Given the description of an element on the screen output the (x, y) to click on. 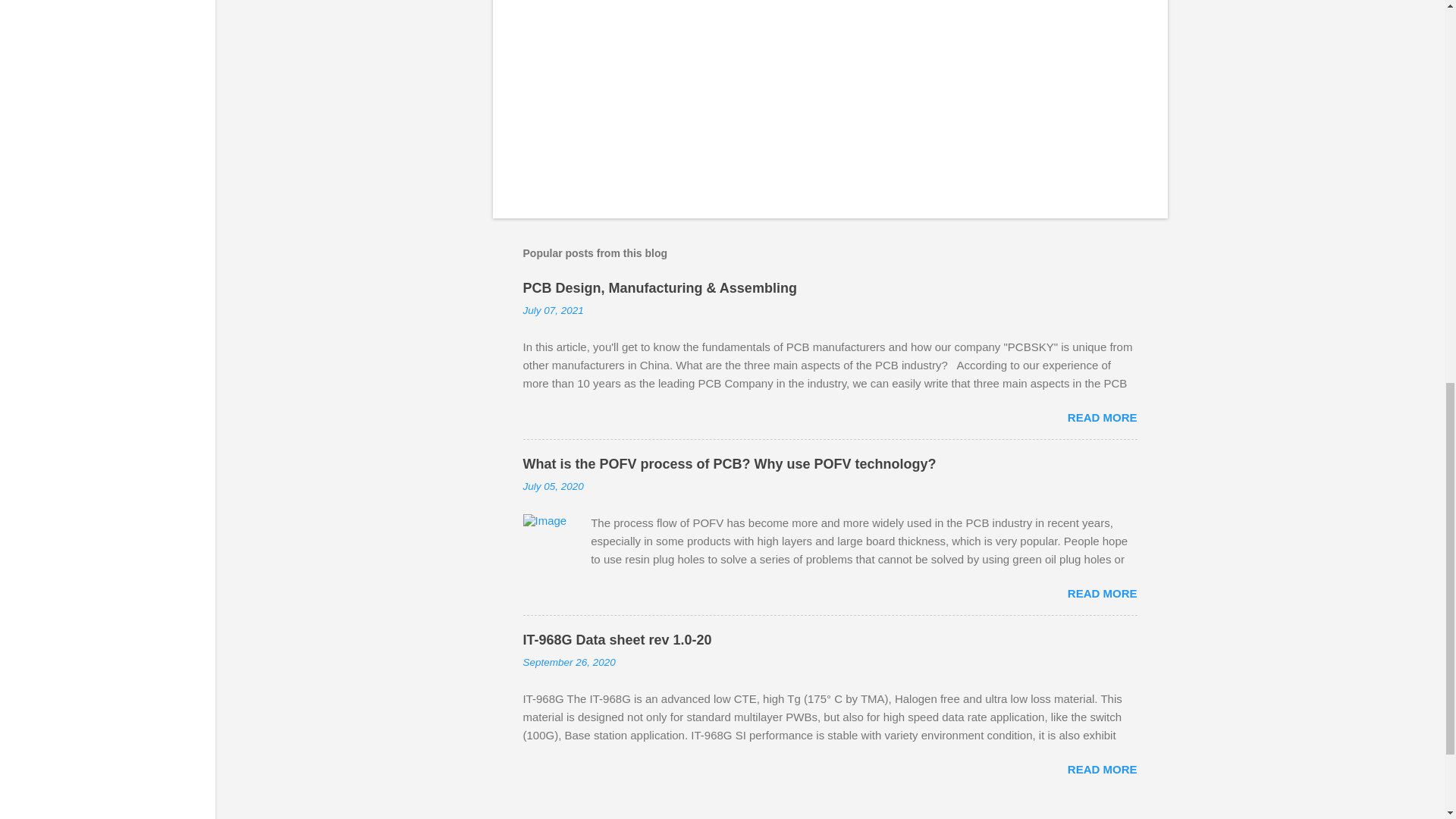
READ MORE (1102, 593)
September 26, 2020 (568, 662)
What is the POFV process of PCB? Why use POFV technology? (729, 463)
July 05, 2020 (552, 486)
permanent link (552, 310)
READ MORE (1102, 768)
READ MORE (1102, 417)
IT-968G Data sheet rev 1.0-20 (616, 639)
July 07, 2021 (552, 310)
